Given the description of an element on the screen output the (x, y) to click on. 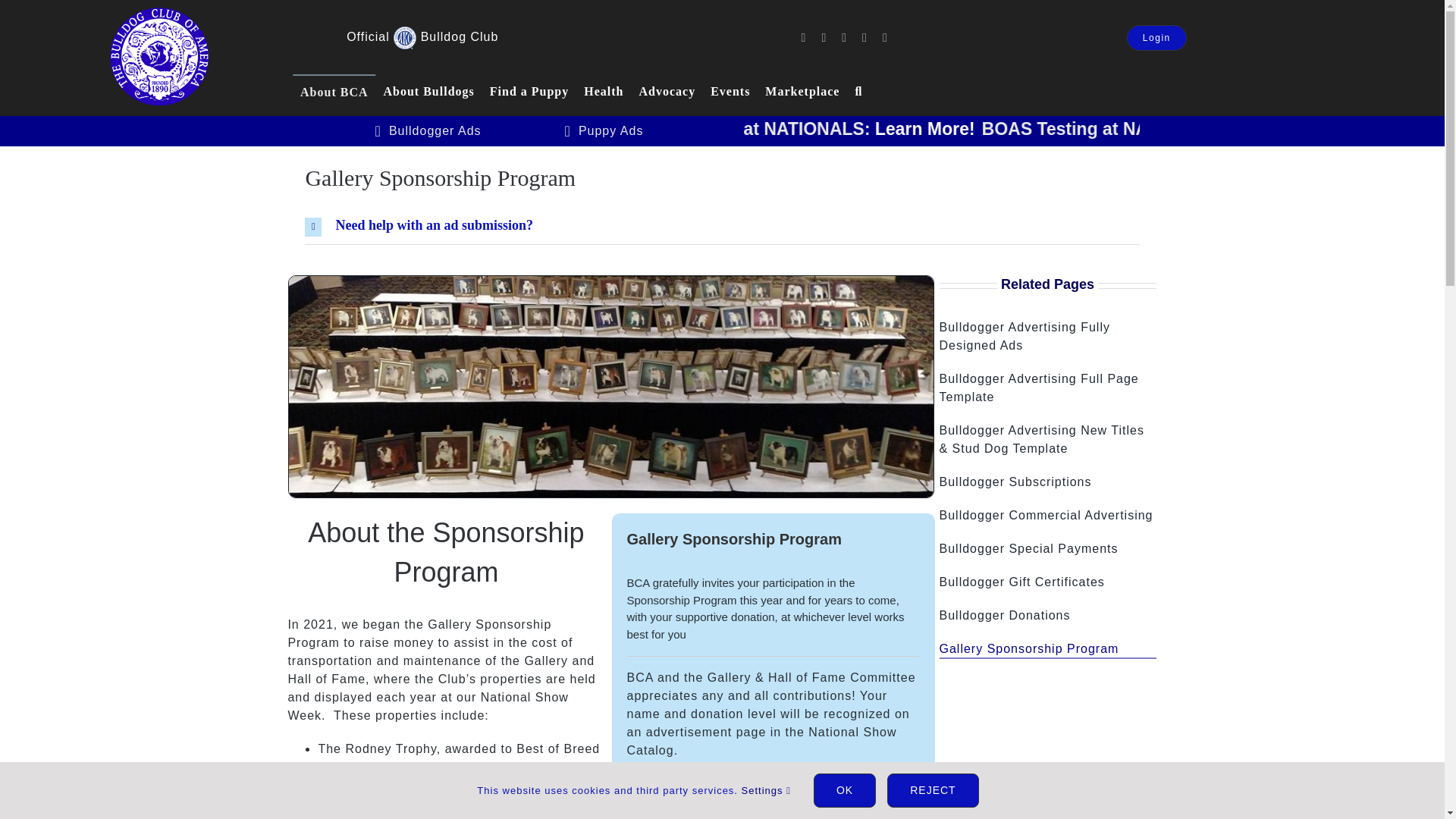
Login (1156, 37)
About BCA (333, 91)
Gallery Sponsorship Program 13 (158, 56)
Gallery Sponsorship Program 16 (404, 37)
